Given the description of an element on the screen output the (x, y) to click on. 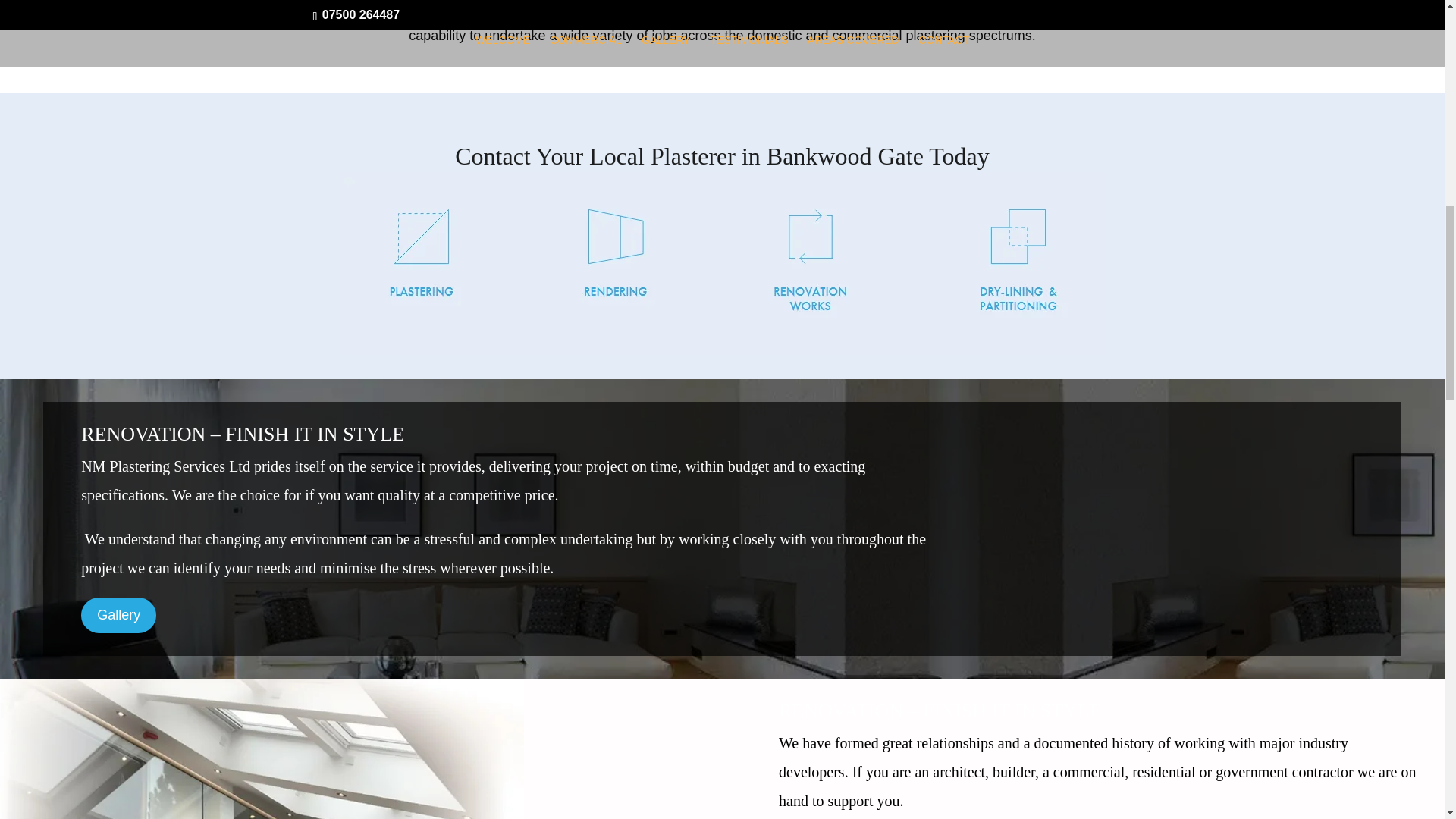
Gallery (118, 615)
